Given the description of an element on the screen output the (x, y) to click on. 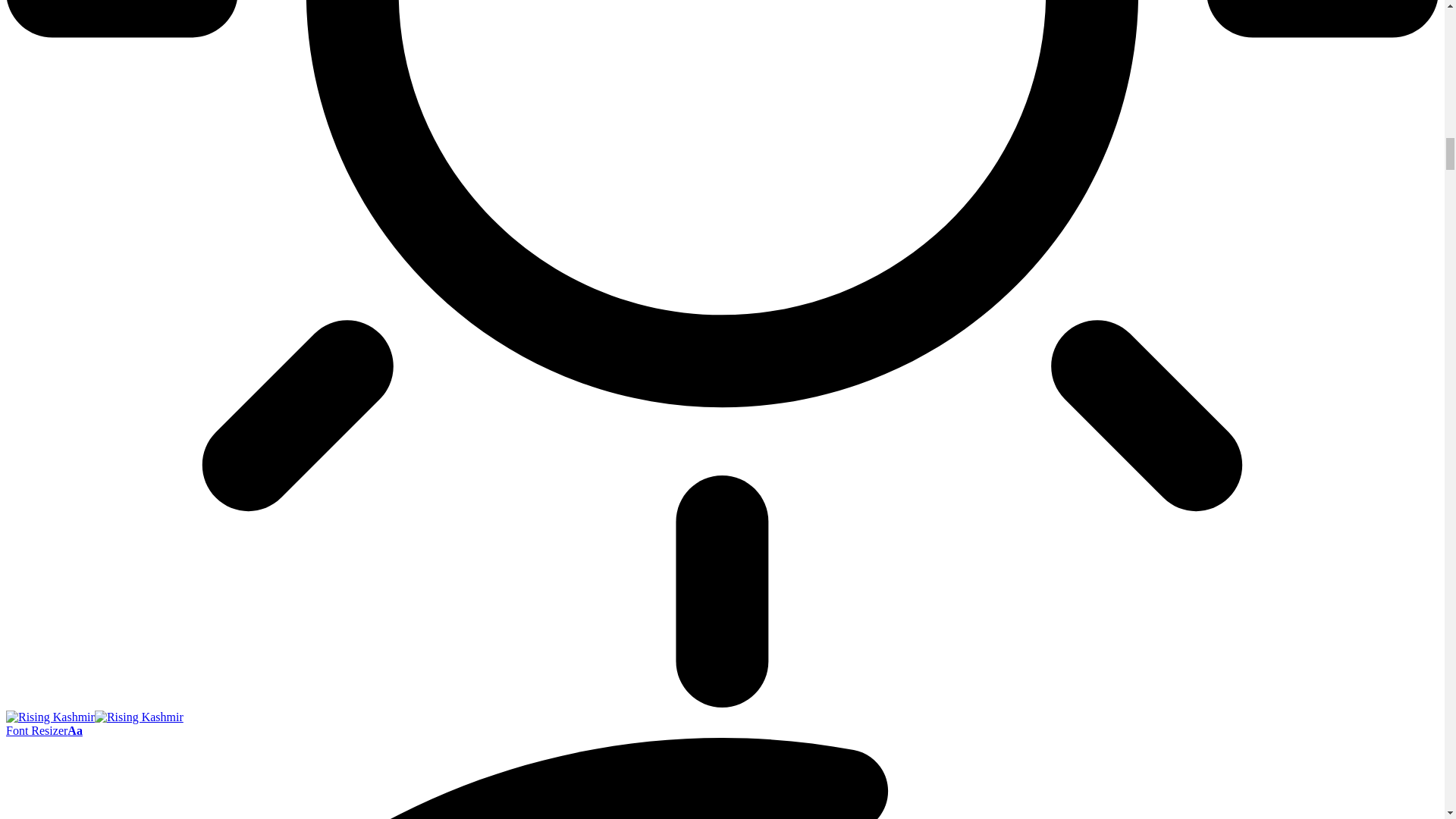
Rising Kashmir (94, 716)
